Given the description of an element on the screen output the (x, y) to click on. 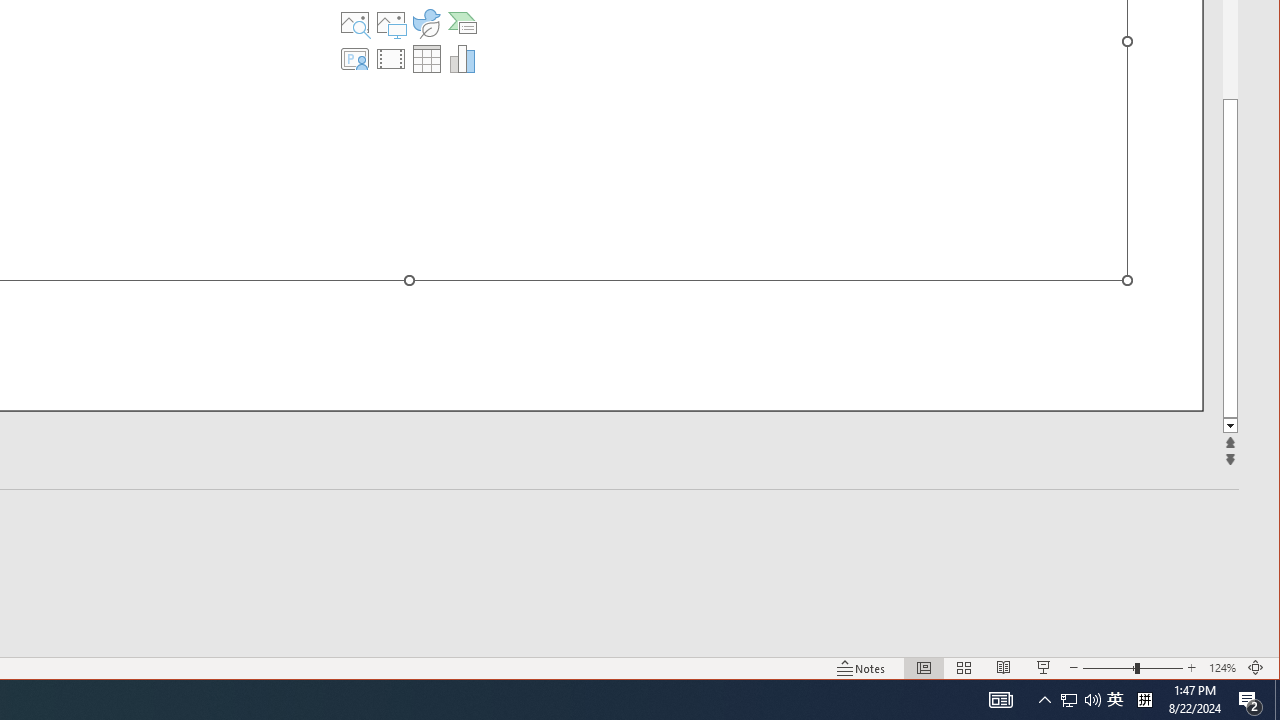
Insert an Icon (426, 22)
Insert Video (391, 58)
Insert a SmartArt Graphic (462, 22)
Zoom 124% (1222, 668)
Insert Table (426, 58)
Insert Cameo (355, 58)
